Given the description of an element on the screen output the (x, y) to click on. 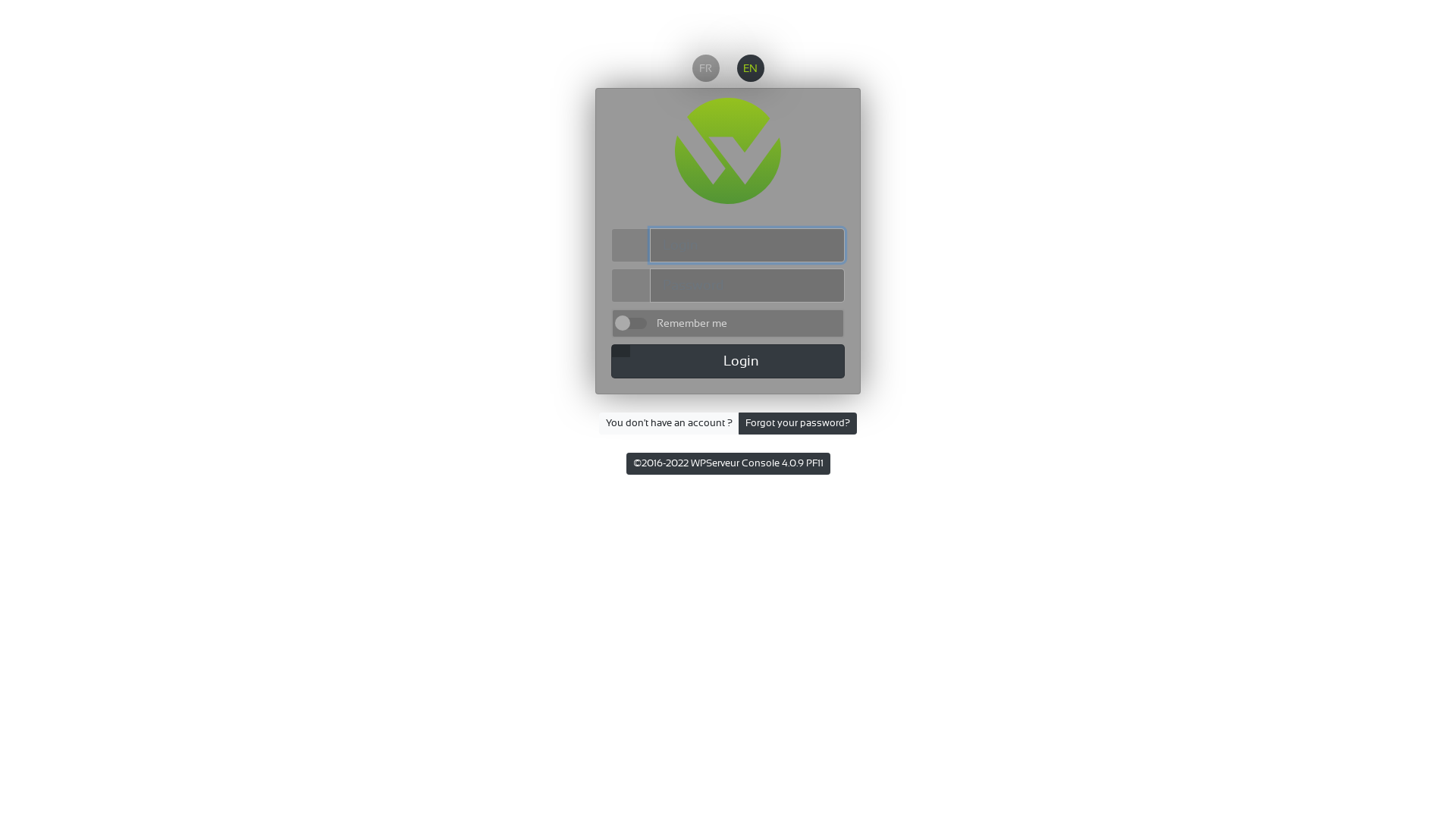
EN Element type: text (750, 67)
Forgot your password? Element type: text (797, 423)
FR Element type: text (704, 67)
Login Element type: text (727, 361)
You don't have an account ? Element type: text (669, 423)
